Given the description of an element on the screen output the (x, y) to click on. 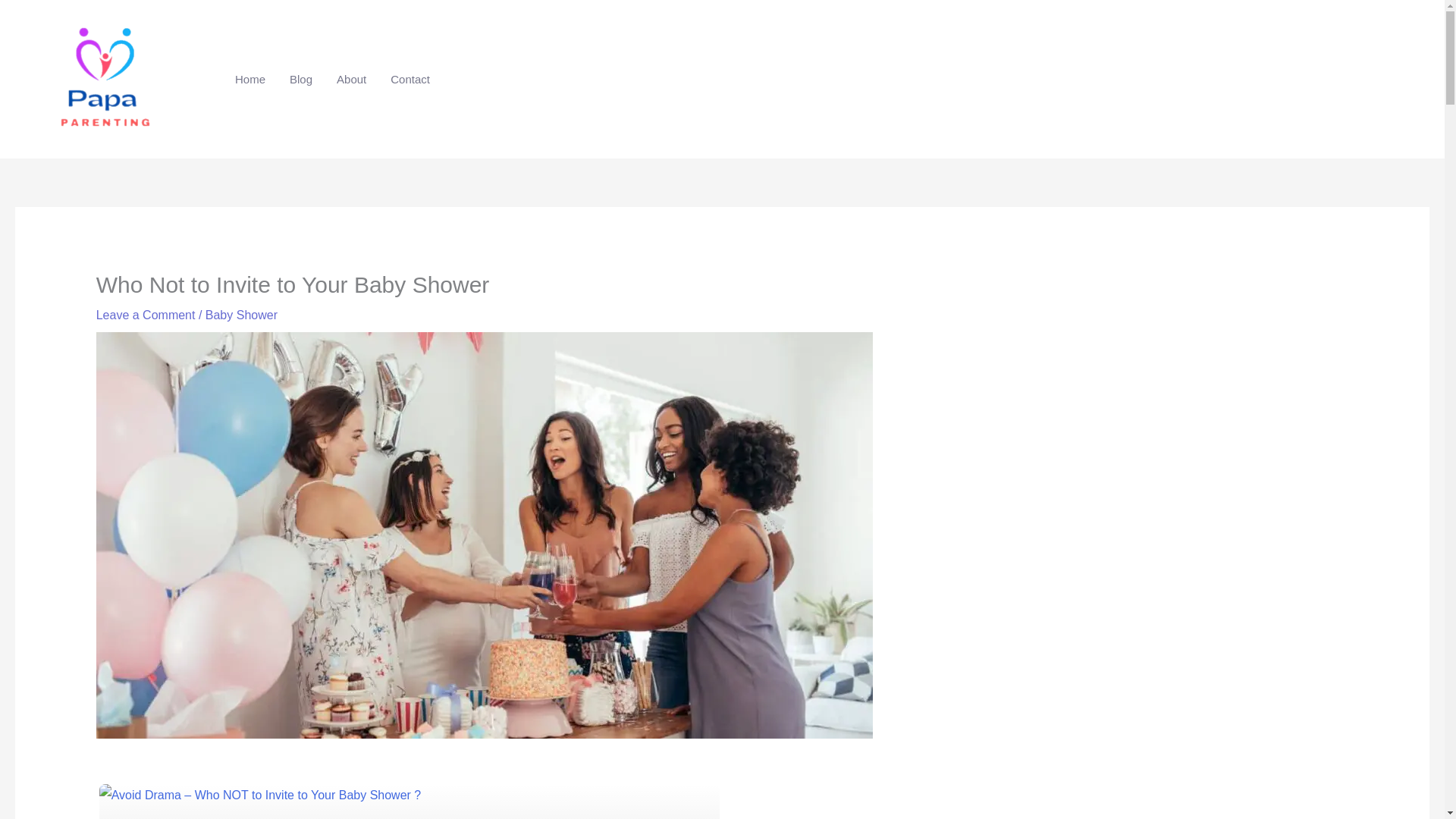
Home (250, 79)
Contact (410, 79)
Baby Shower (241, 314)
Leave a Comment (145, 314)
About (351, 79)
